Given the description of an element on the screen output the (x, y) to click on. 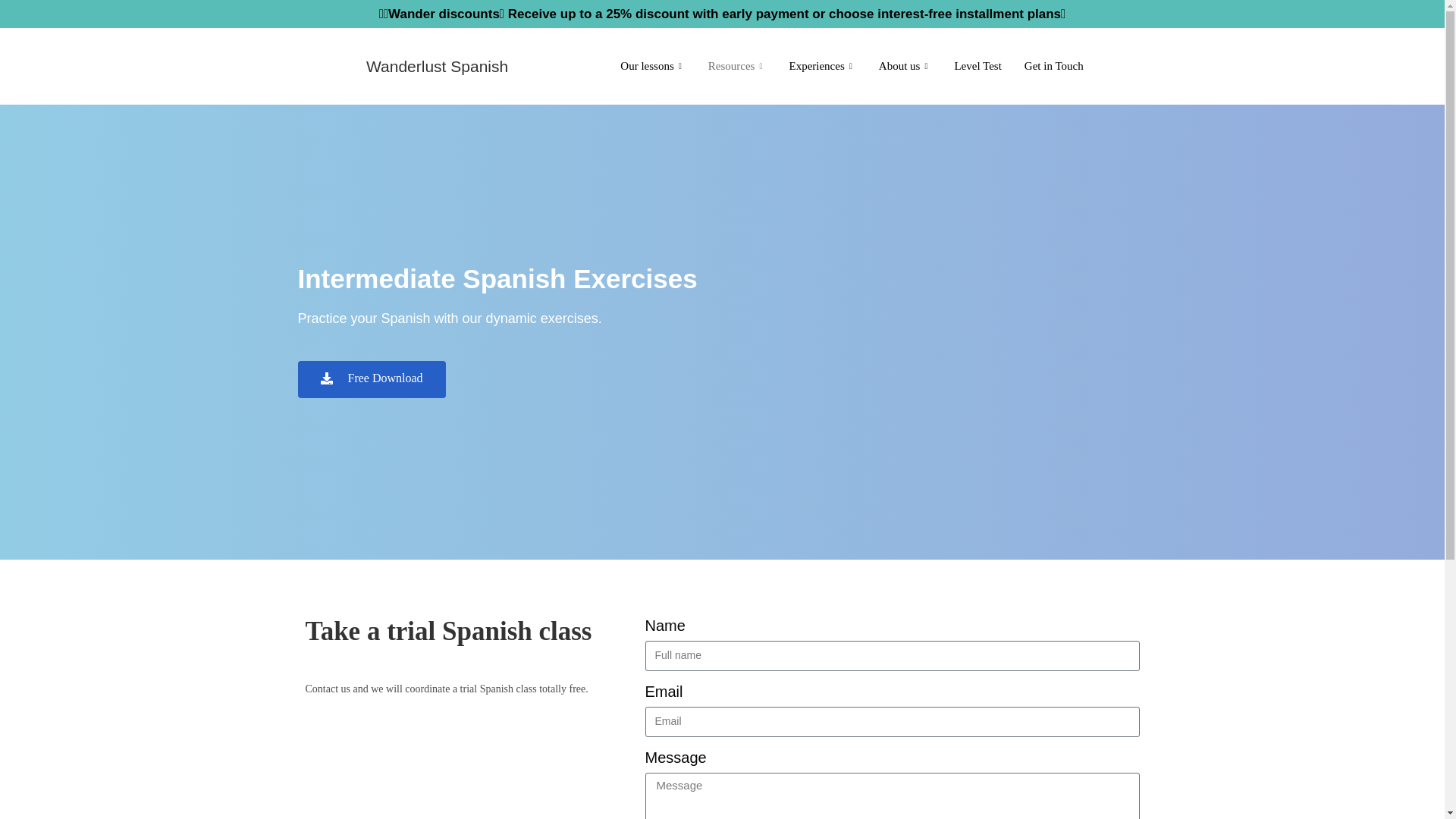
Resources (737, 66)
About us (905, 66)
Experiences (821, 66)
Wanderlust Spanish (437, 66)
Our lessons (651, 66)
